Given the description of an element on the screen output the (x, y) to click on. 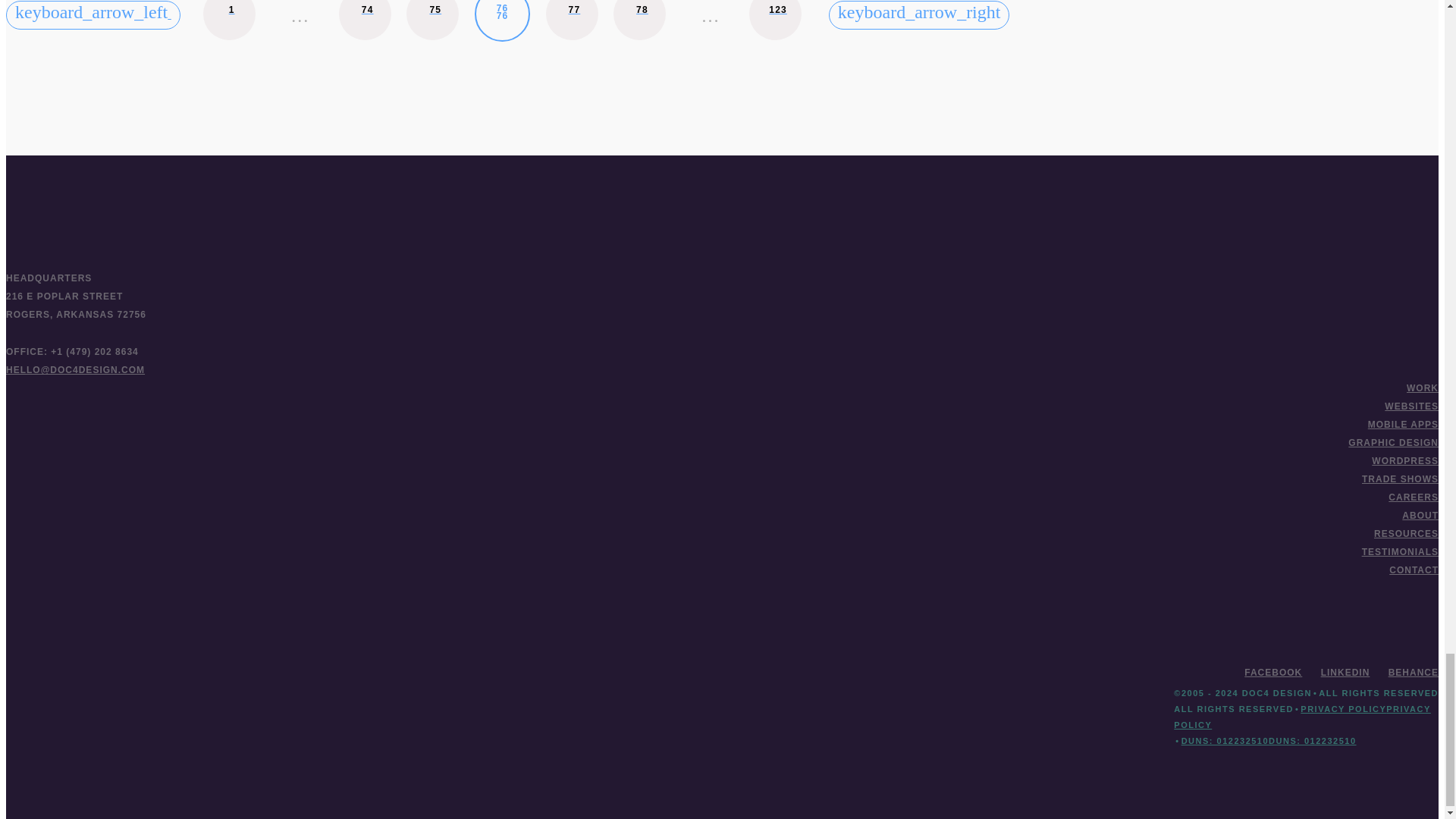
77 (572, 20)
75 (432, 20)
78 (501, 20)
123 (638, 20)
1 (775, 20)
74 (229, 20)
